Given the description of an element on the screen output the (x, y) to click on. 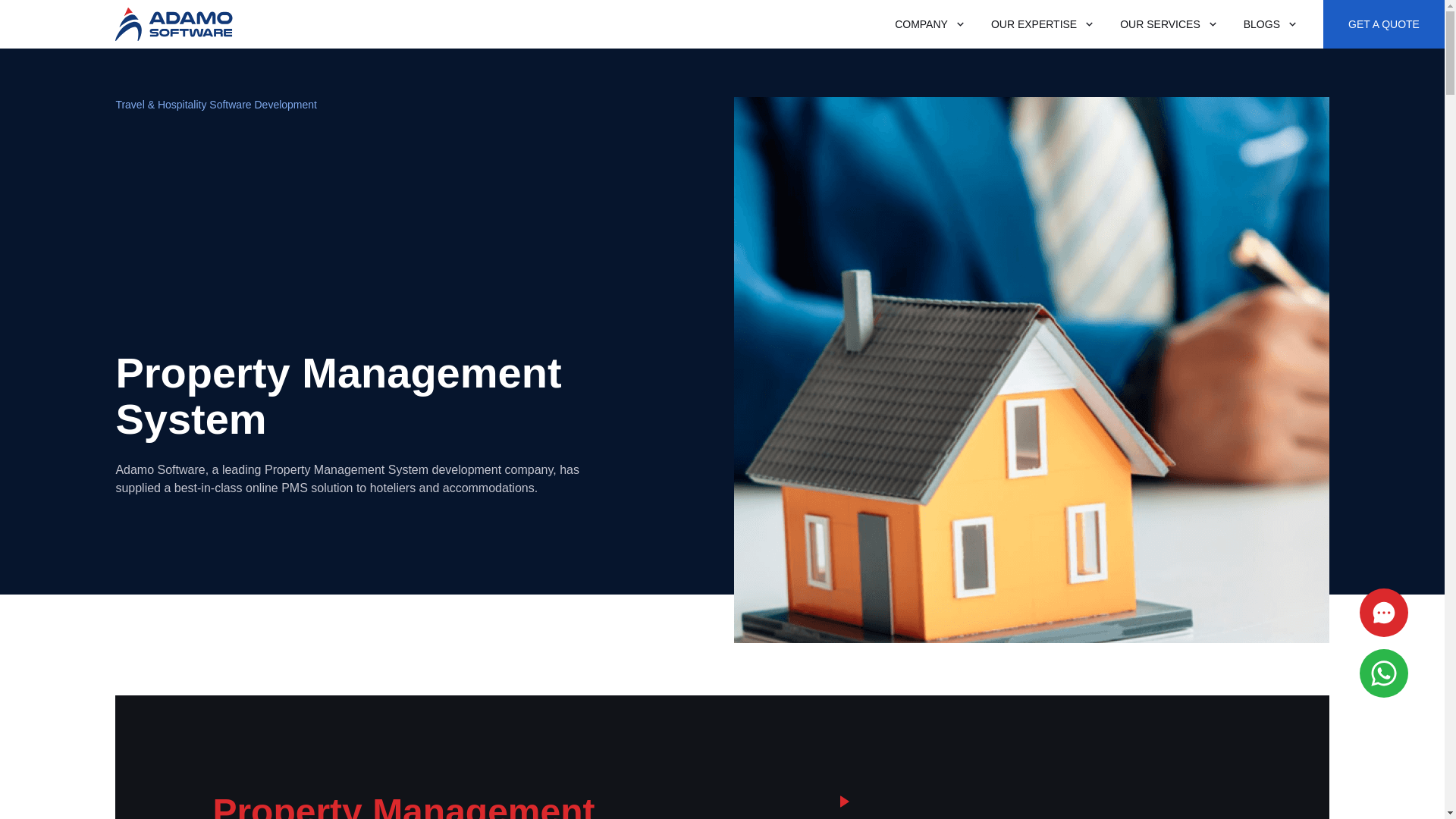
OUR EXPERTISE (1034, 4)
BLOGS (1261, 21)
OUR SERVICES (1159, 14)
